Given the description of an element on the screen output the (x, y) to click on. 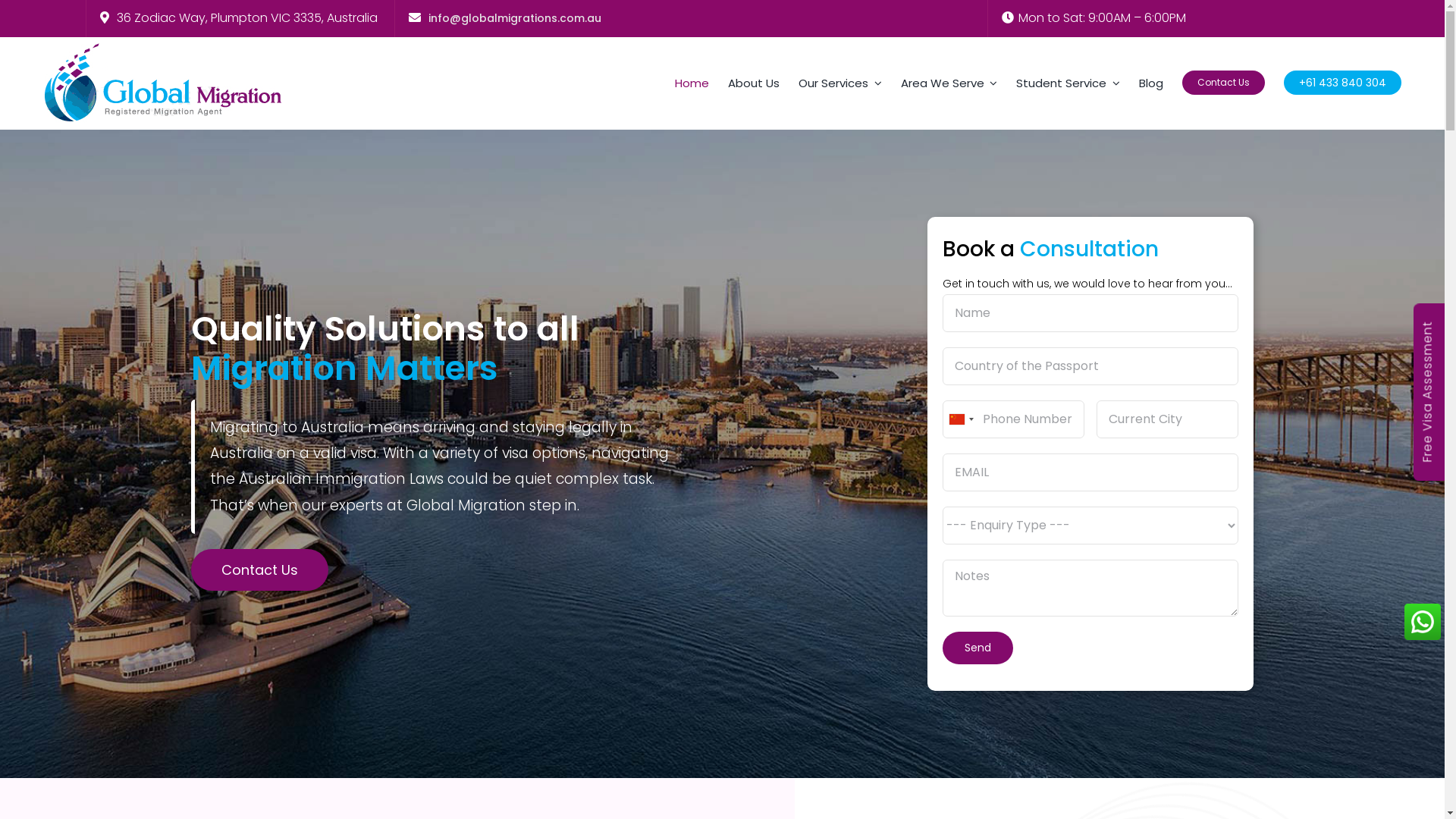
Blog Element type: text (1151, 82)
info@globalmigrations.com.au Element type: text (513, 17)
Our Services Element type: text (839, 82)
+61 433 840 304 Element type: text (1342, 82)
About Us Element type: text (753, 82)
Area We Serve Element type: text (948, 82)
Send Element type: text (977, 647)
Home Element type: text (691, 82)
Contact Us Element type: text (1223, 82)
Contact Us Element type: text (259, 569)
Student Service Element type: text (1068, 82)
